Given the description of an element on the screen output the (x, y) to click on. 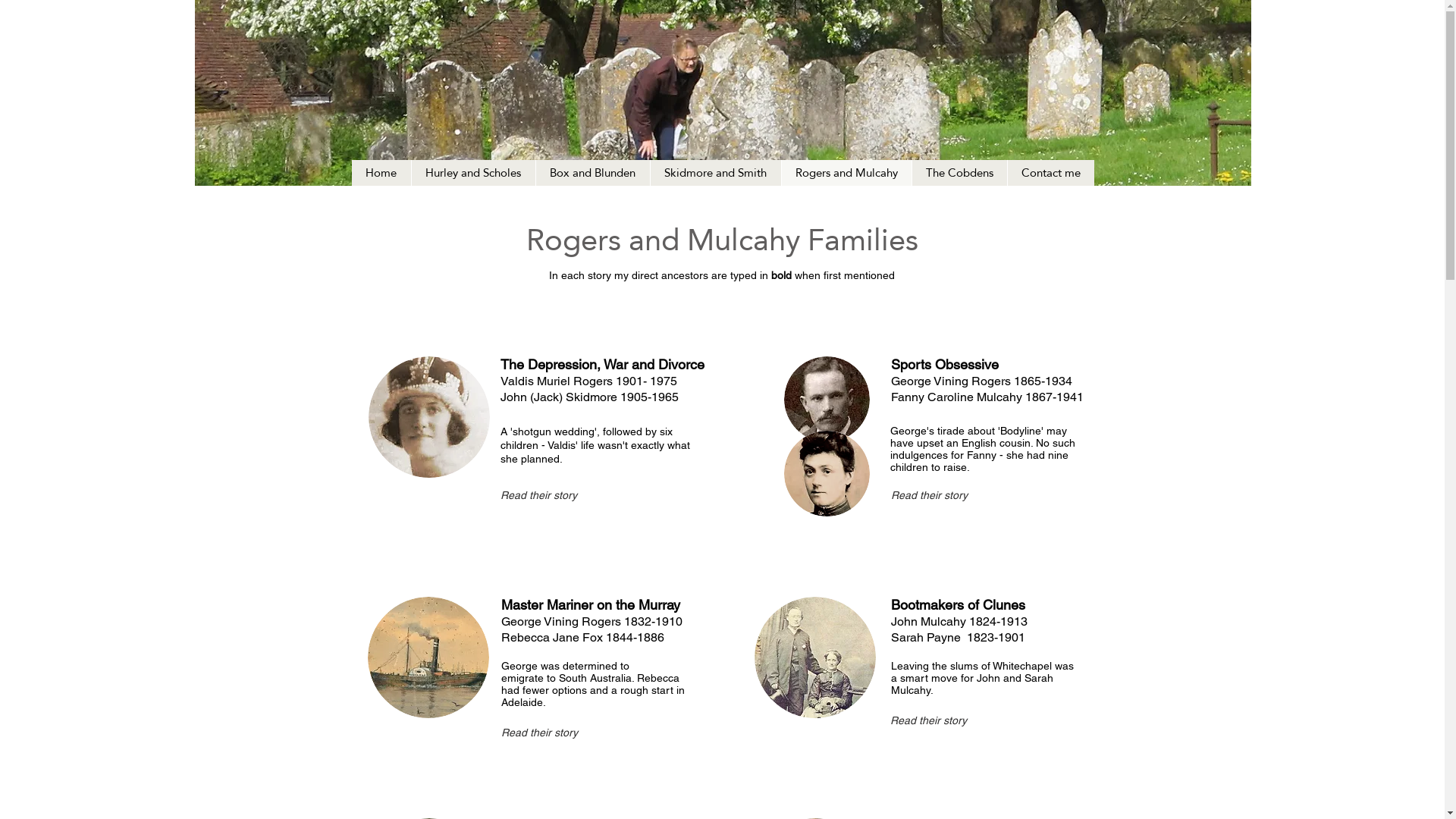
Scan1_edited.jpg Element type: hover (826, 399)
The Cobdens Element type: text (959, 172)
Read their story Element type: text (952, 495)
B-8227_edited.jpg Element type: hover (427, 657)
Read their story Element type: text (952, 721)
Read their story Element type: text (562, 733)
Valdis_edited.jpg Element type: hover (428, 416)
Box and Blunden Element type: text (592, 172)
fanny_edited.jpg Element type: hover (826, 473)
Hurley and Scholes Element type: text (473, 172)
mulcahys_1_edited.jpg Element type: hover (814, 657)
Skidmore and Smith Element type: text (714, 172)
Read their story Element type: text (562, 495)
Contact me Element type: text (1050, 172)
Home Element type: text (381, 172)
Rogers and Mulcahy Element type: text (846, 172)
